Given the description of an element on the screen output the (x, y) to click on. 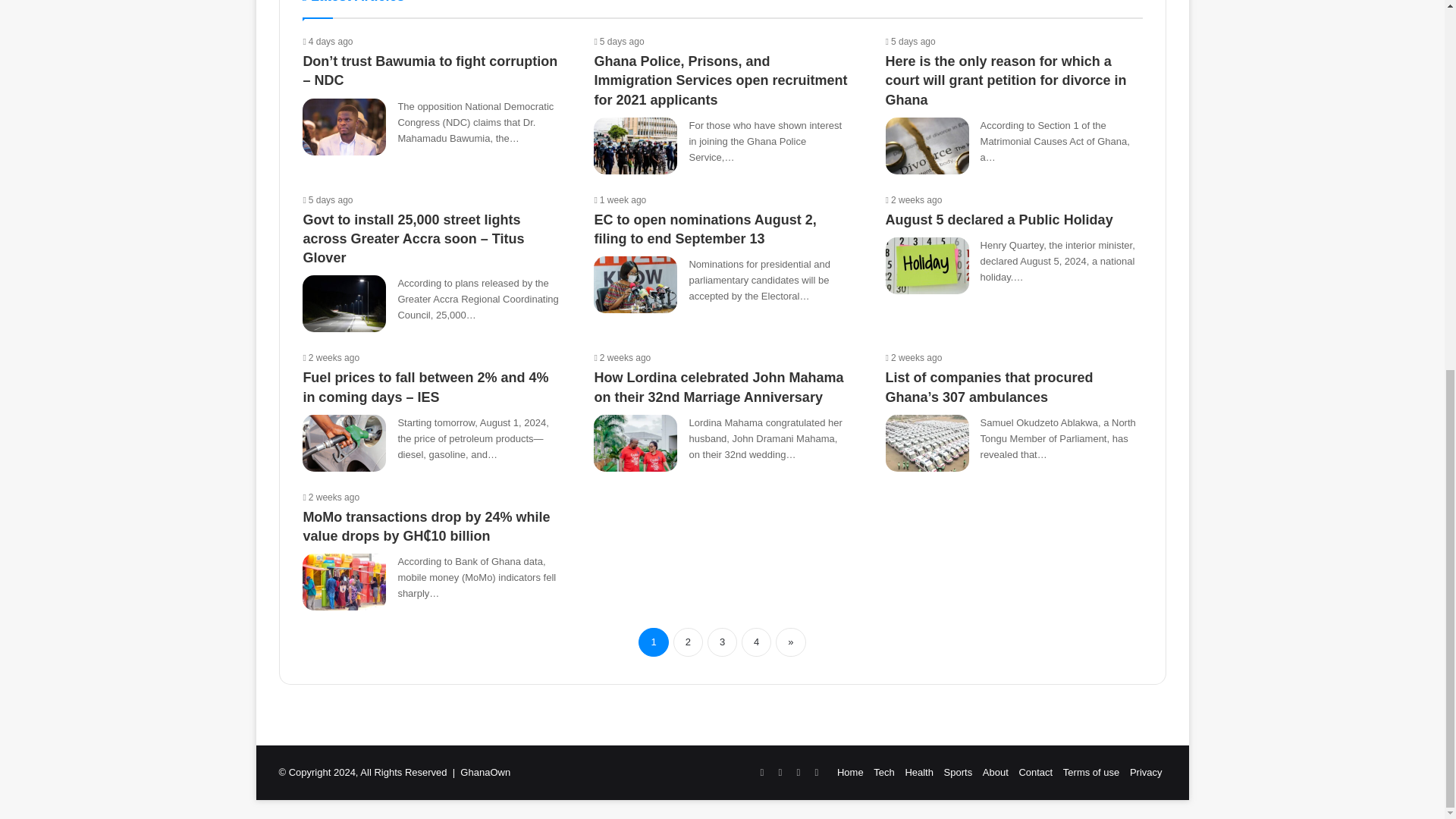
3 (721, 642)
2 (687, 642)
4 (756, 642)
